Given the description of an element on the screen output the (x, y) to click on. 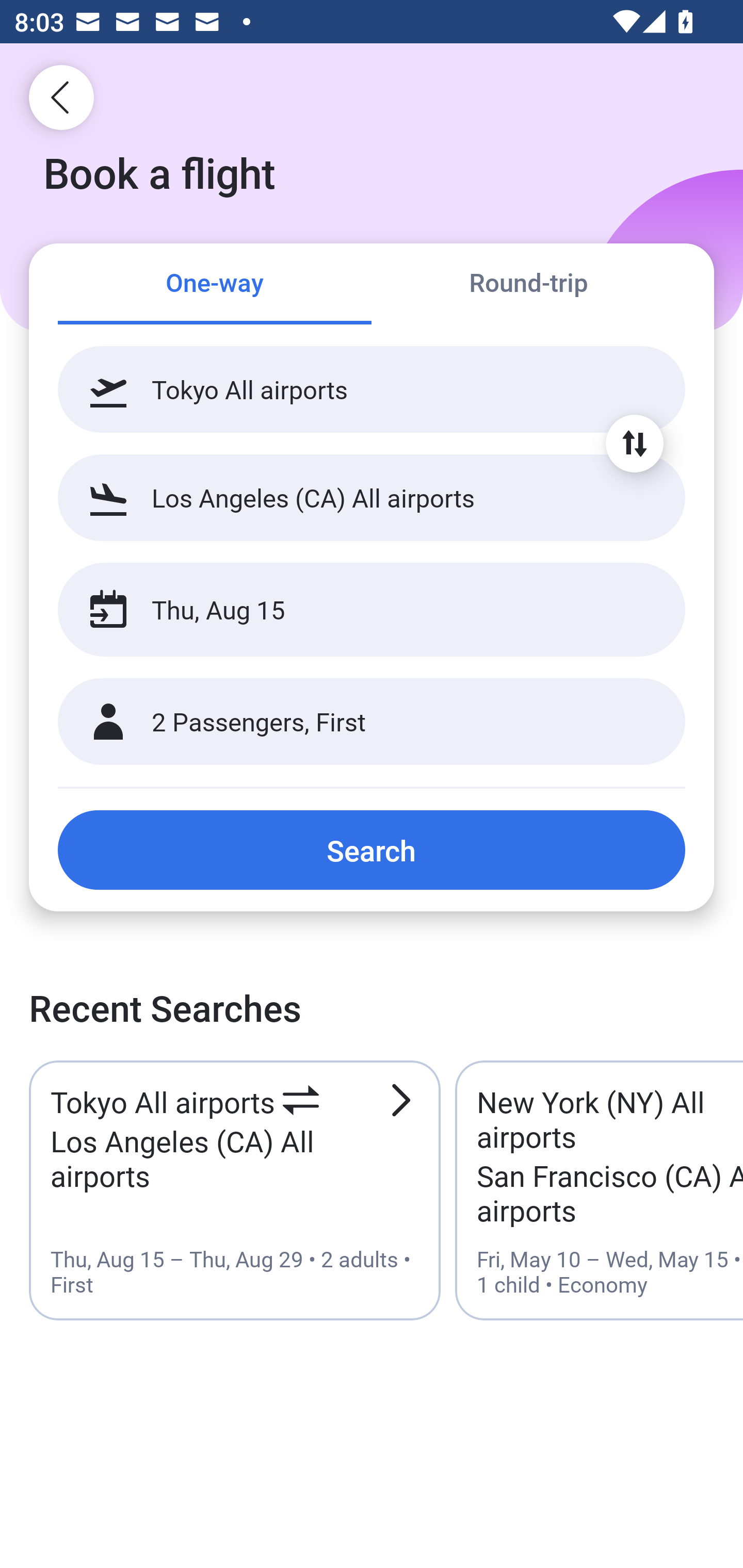
Round-trip (528, 284)
Tokyo All airports (371, 389)
Los Angeles (CA) All airports (371, 497)
Thu, Aug 15 (349, 609)
2 Passengers, First (371, 721)
Search (371, 849)
